Given the description of an element on the screen output the (x, y) to click on. 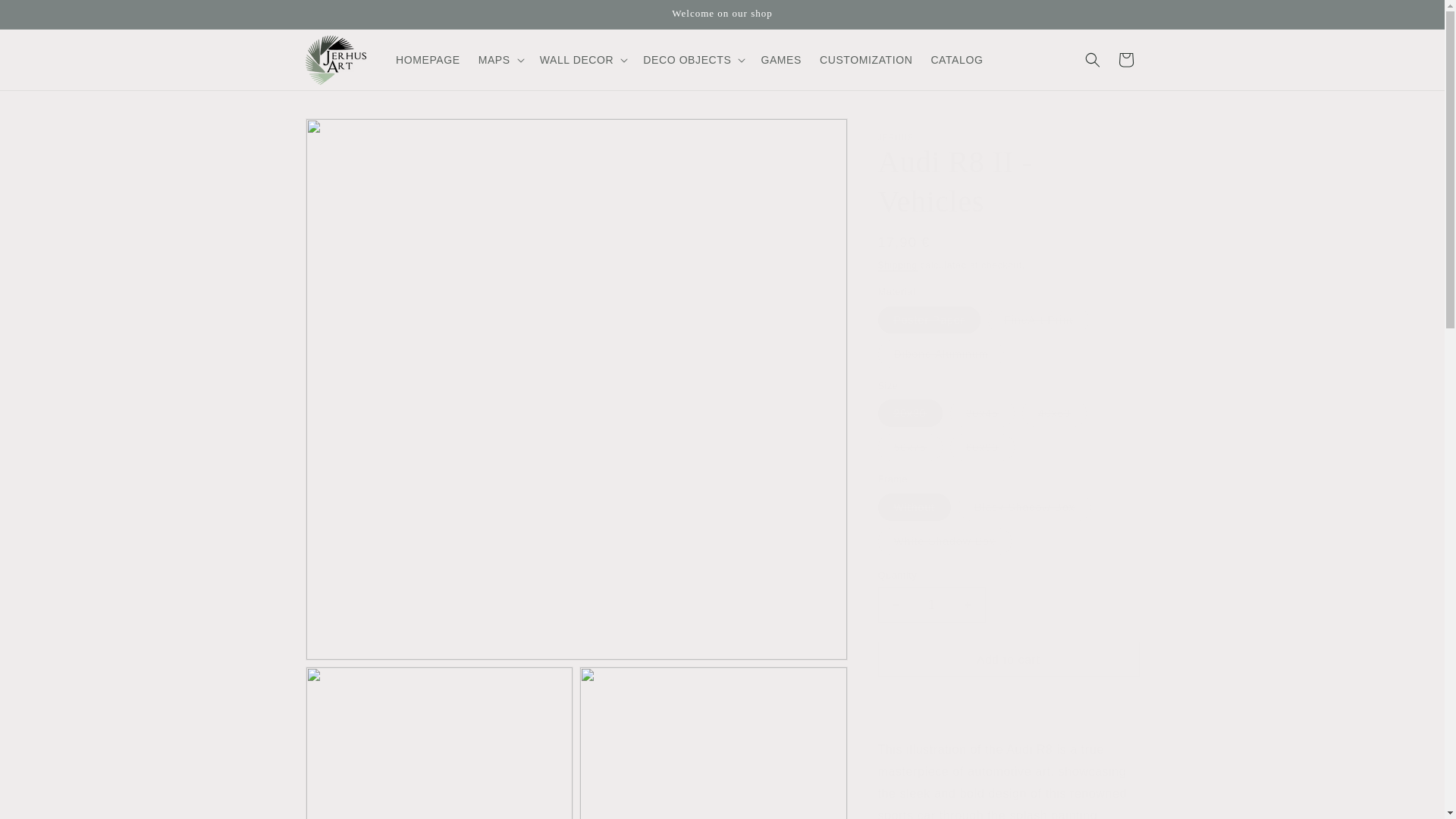
Open media 3 in modal (713, 742)
1 (931, 604)
